Given the description of an element on the screen output the (x, y) to click on. 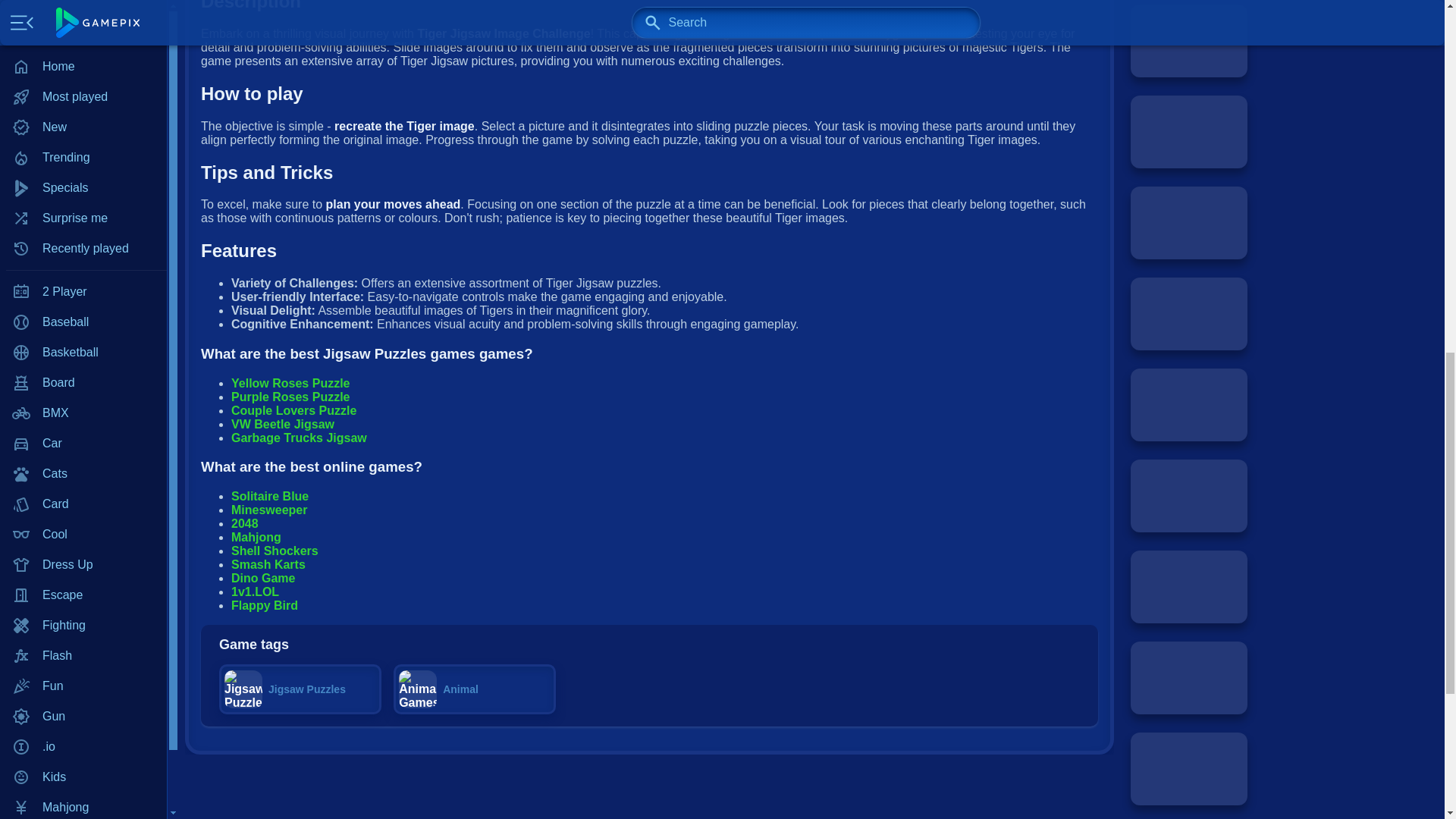
Shooter (83, 200)
Zombie (83, 382)
Racing (83, 140)
Word (83, 352)
Soccer (83, 291)
Solitaire (83, 231)
Mahjong (83, 2)
Mario (83, 19)
Puzzle (83, 110)
RPG (83, 170)
